Given the description of an element on the screen output the (x, y) to click on. 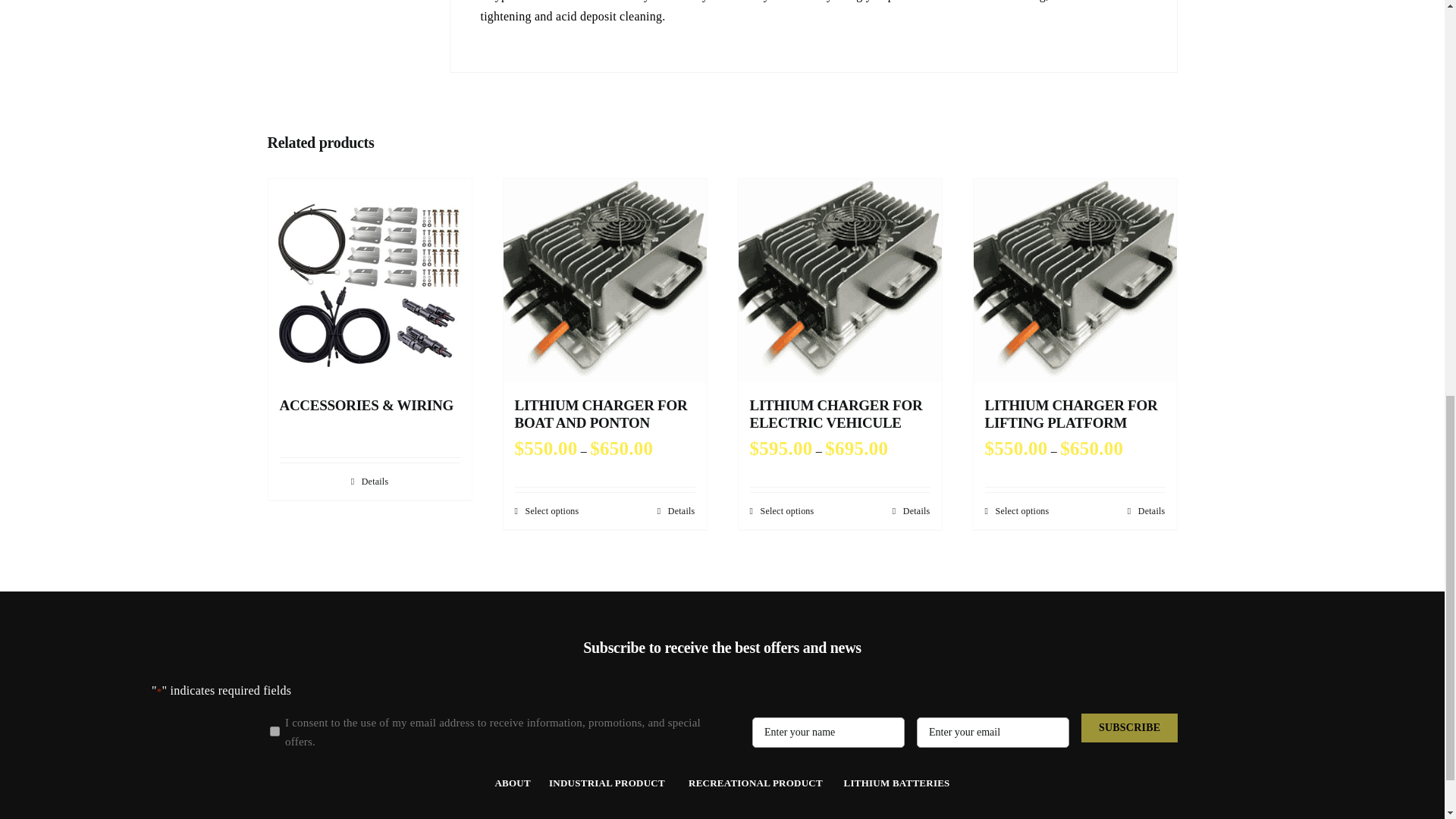
SUBSCRIBE (1129, 727)
